Given the description of an element on the screen output the (x, y) to click on. 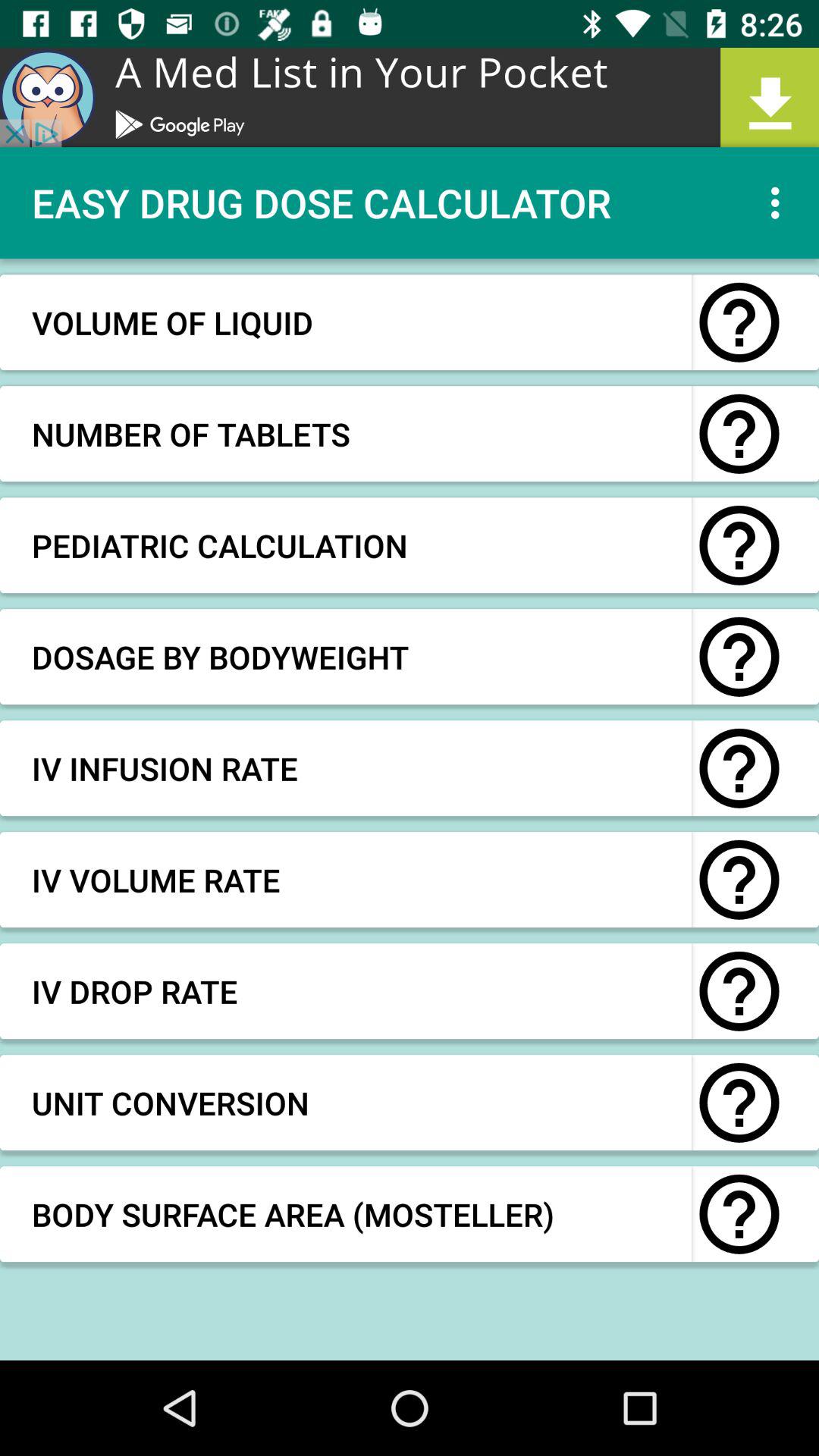
select button (739, 768)
